Given the description of an element on the screen output the (x, y) to click on. 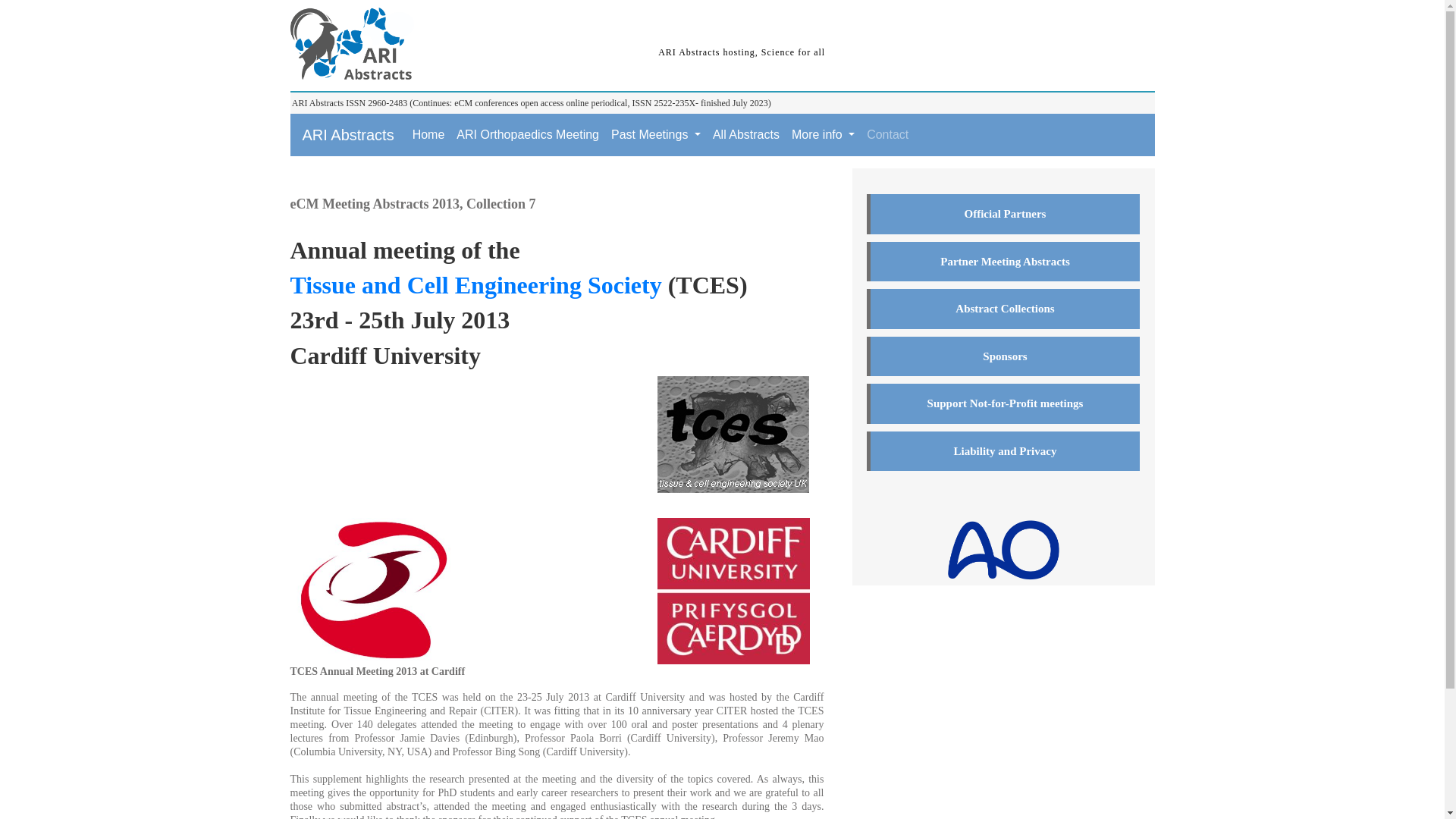
ARI Abstracts (351, 45)
ARI Orthopaedics Meeting (527, 134)
More info (823, 134)
All Abstracts (746, 134)
Past Meetings (655, 134)
Support Not-for-Profit meetings (1002, 404)
Sponsors (1002, 356)
Contact (887, 134)
Tissue and Cell Engineering Society (475, 284)
Partner Meeting Abstracts (1002, 260)
Home (428, 134)
ARI Abstracts (347, 134)
Official Partners (1002, 214)
Abstract Collections (1002, 309)
Liability and Privacy (1002, 450)
